Given the description of an element on the screen output the (x, y) to click on. 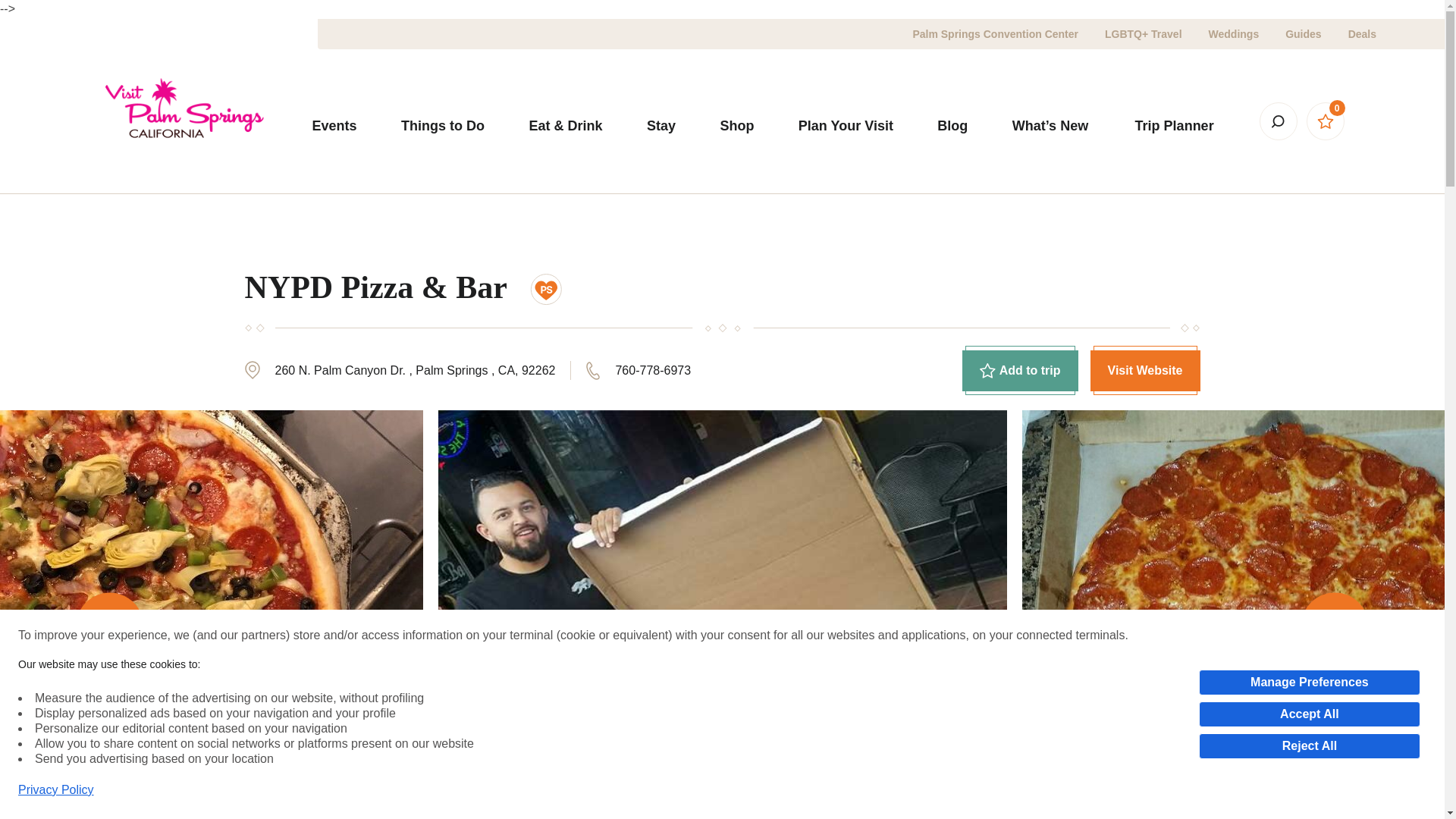
Guides (1302, 33)
Privacy Policy (55, 789)
Weddings (1233, 33)
Locally Owned (545, 289)
Things to Do (443, 125)
Accept All (1309, 714)
Plan Your Visit (845, 125)
Reject All (1309, 746)
Trip Planner (1174, 125)
Manage Preferences (1309, 682)
Deals (1361, 33)
Palm Springs Convention Center (995, 33)
